Given the description of an element on the screen output the (x, y) to click on. 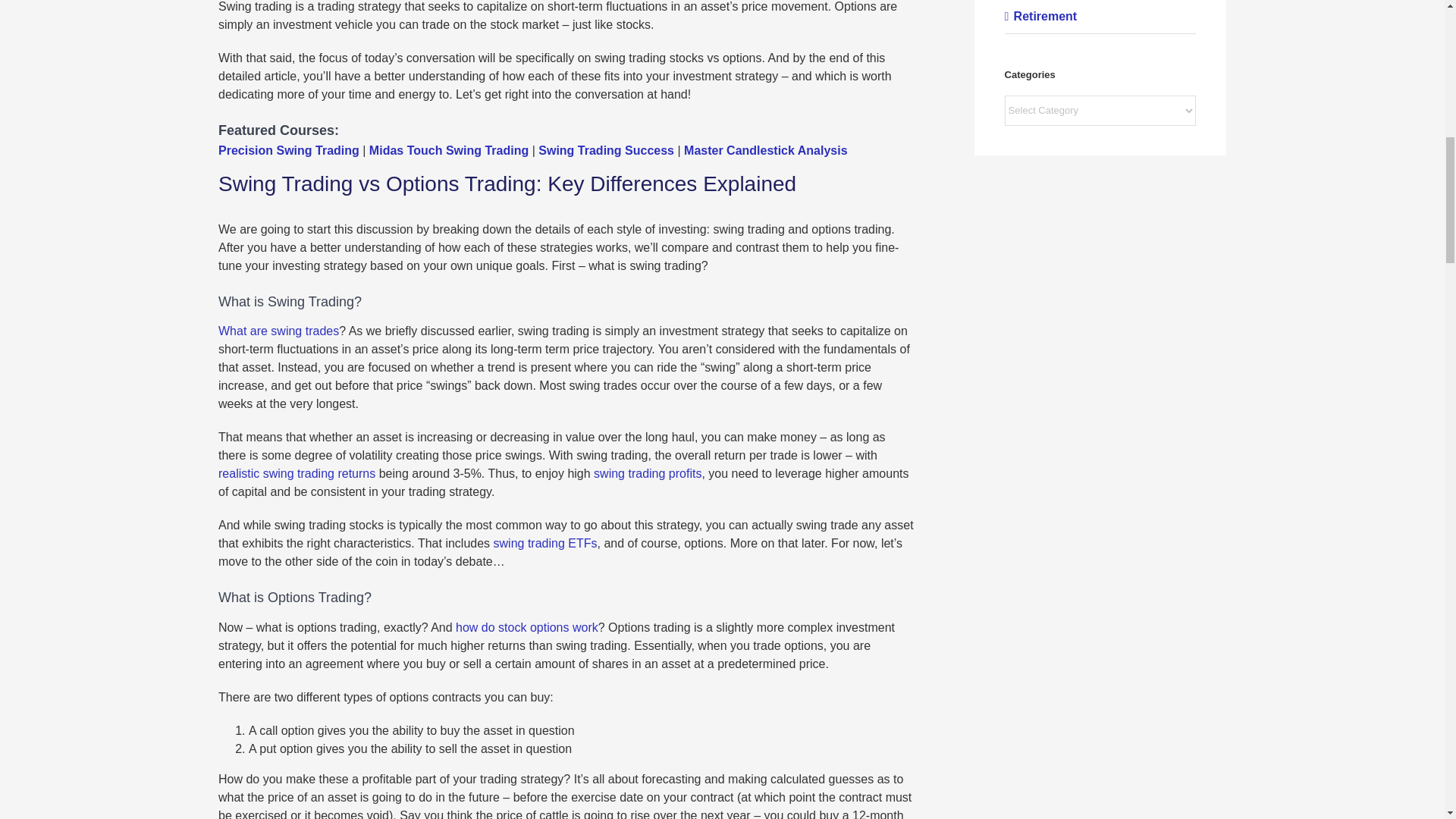
VectorVest: Featured Courses - Midas Touch Swing Trading (448, 150)
VectorVest: Featured Courses - Master Candlestick Analysis (765, 150)
VectorVest: Featured Courses - Swing Trading Success (606, 150)
VectorVest: Featured Courses - Precision Swing Trading (288, 150)
